Given the description of an element on the screen output the (x, y) to click on. 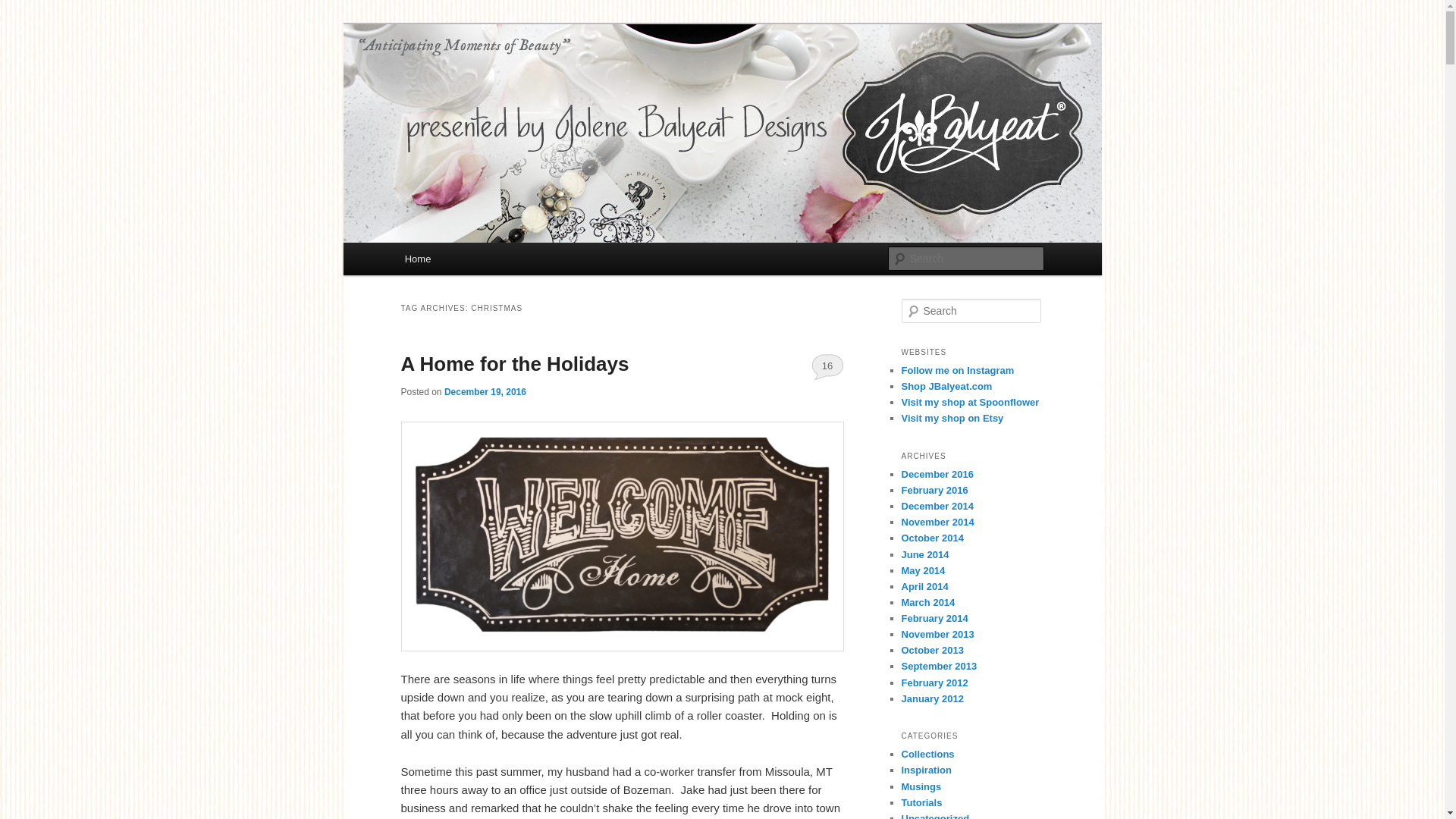
Visit JBalyeat.com (946, 386)
See Fabric at Spoonflower (970, 401)
Instagram (957, 369)
December 19, 2016 (484, 391)
A Home for the Holidays (514, 363)
Jolene Balyeat Designs (526, 78)
16 (827, 366)
See creations on Etsy (952, 418)
Search (24, 8)
12:34 PM (484, 391)
Home (417, 258)
